Given the description of an element on the screen output the (x, y) to click on. 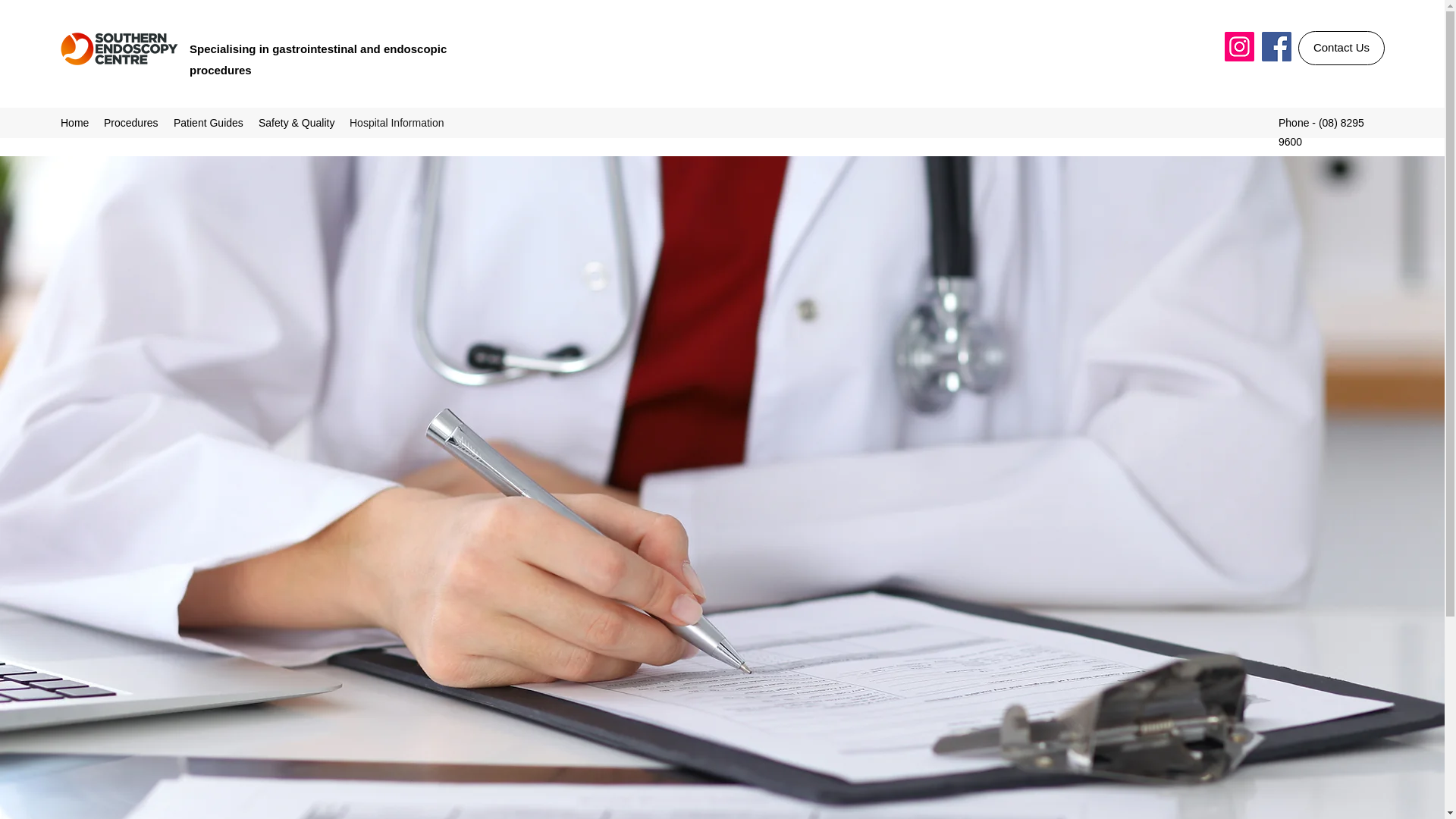
Contact Us (1341, 48)
Patient Guides (207, 122)
Hospital Information (396, 122)
Procedures (130, 122)
Home (74, 122)
